Given the description of an element on the screen output the (x, y) to click on. 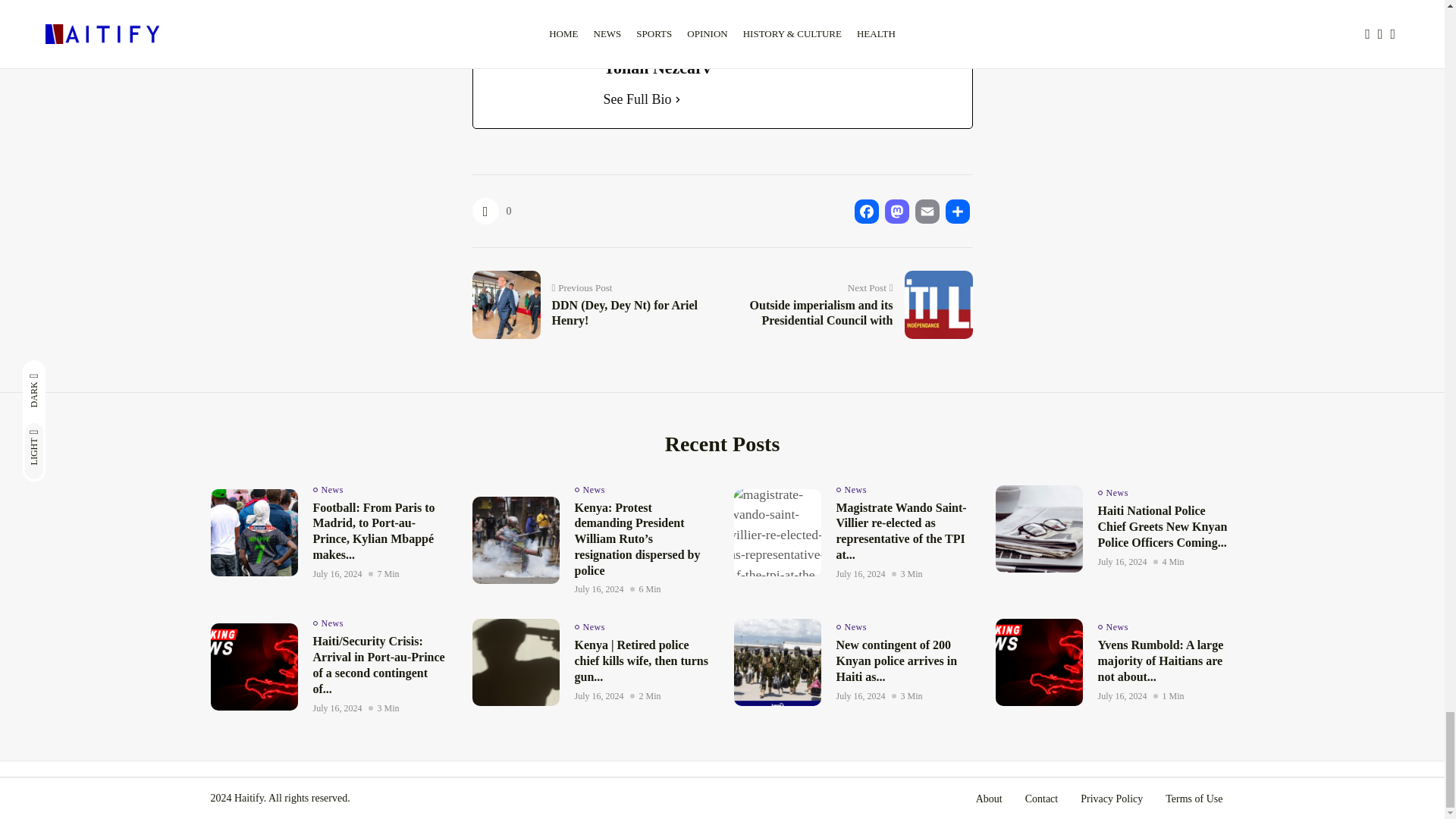
Email (547, 19)
Email (926, 211)
Mastodon (517, 19)
Mastodon (895, 211)
Facebook (865, 211)
ddn-dey-dey-nt-for-ariel-henry - Haitify (502, 301)
Facebook (486, 19)
